Given the description of an element on the screen output the (x, y) to click on. 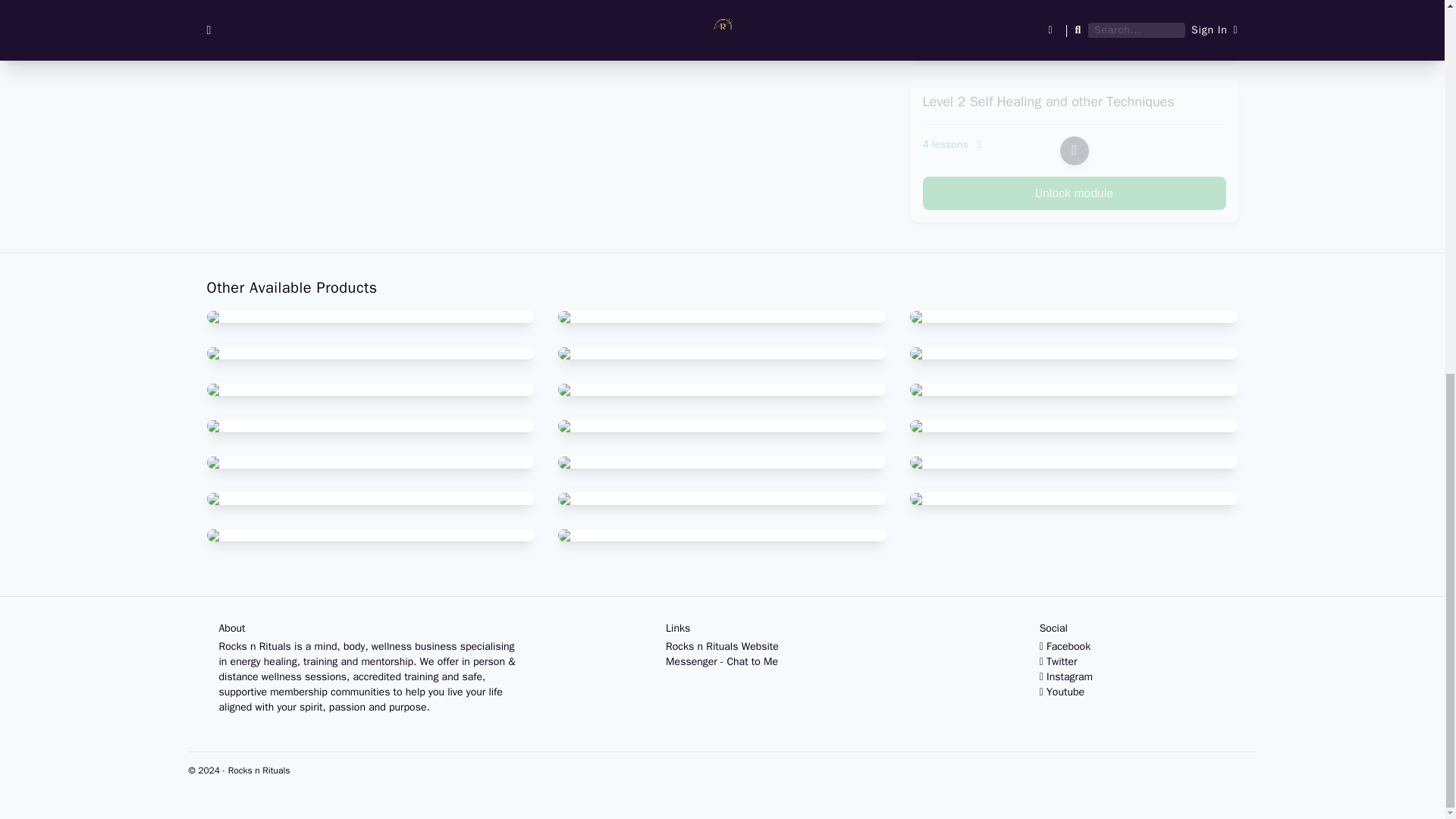
4 lessons (1074, 144)
Unlock module (1074, 31)
